Given the description of an element on the screen output the (x, y) to click on. 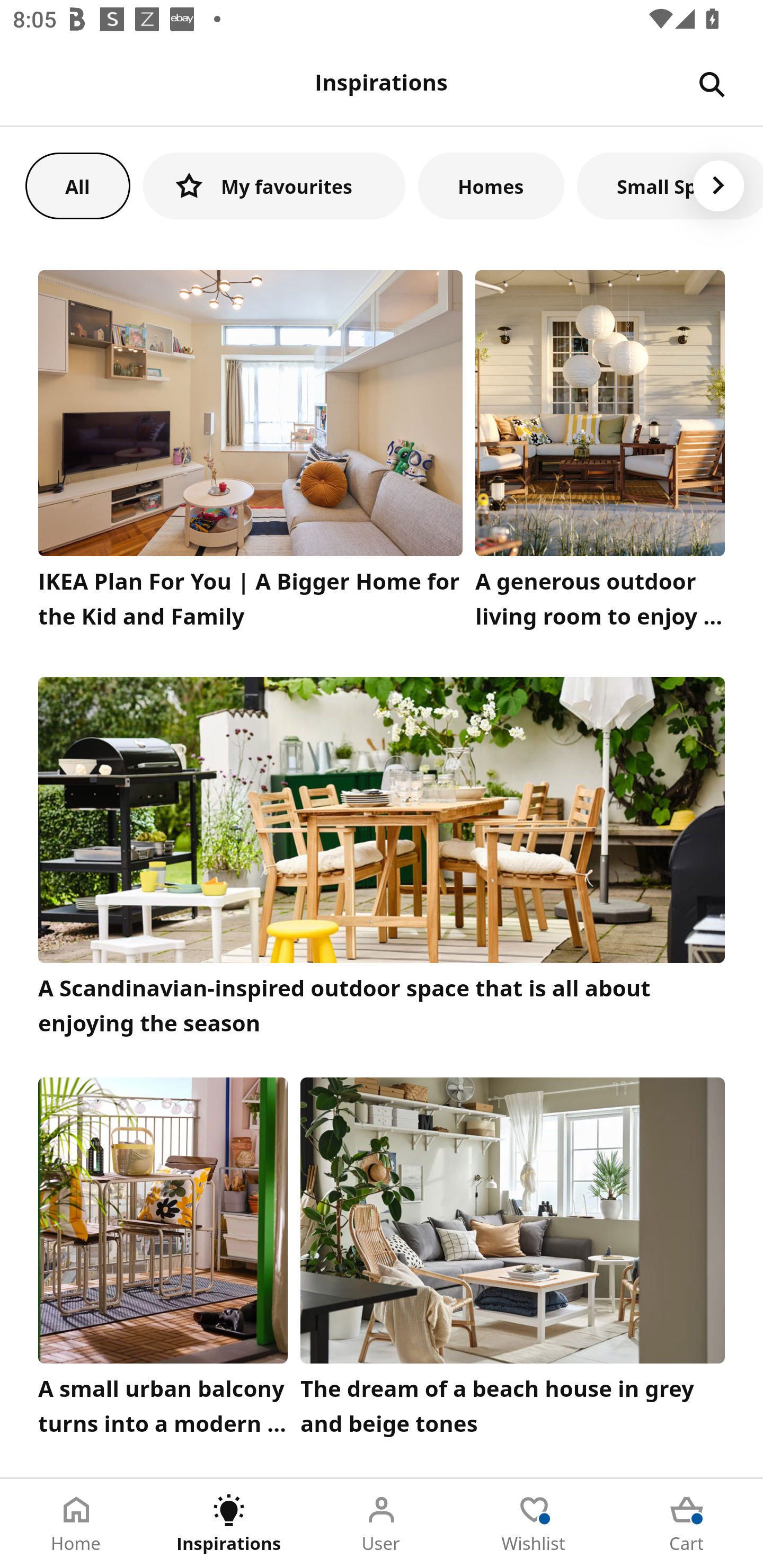
All (77, 185)
My favourites (274, 185)
Homes (491, 185)
The dream of a beach house in grey and beige tones (512, 1261)
Home
Tab 1 of 5 (76, 1522)
Inspirations
Tab 2 of 5 (228, 1522)
User
Tab 3 of 5 (381, 1522)
Wishlist
Tab 4 of 5 (533, 1522)
Cart
Tab 5 of 5 (686, 1522)
